Given the description of an element on the screen output the (x, y) to click on. 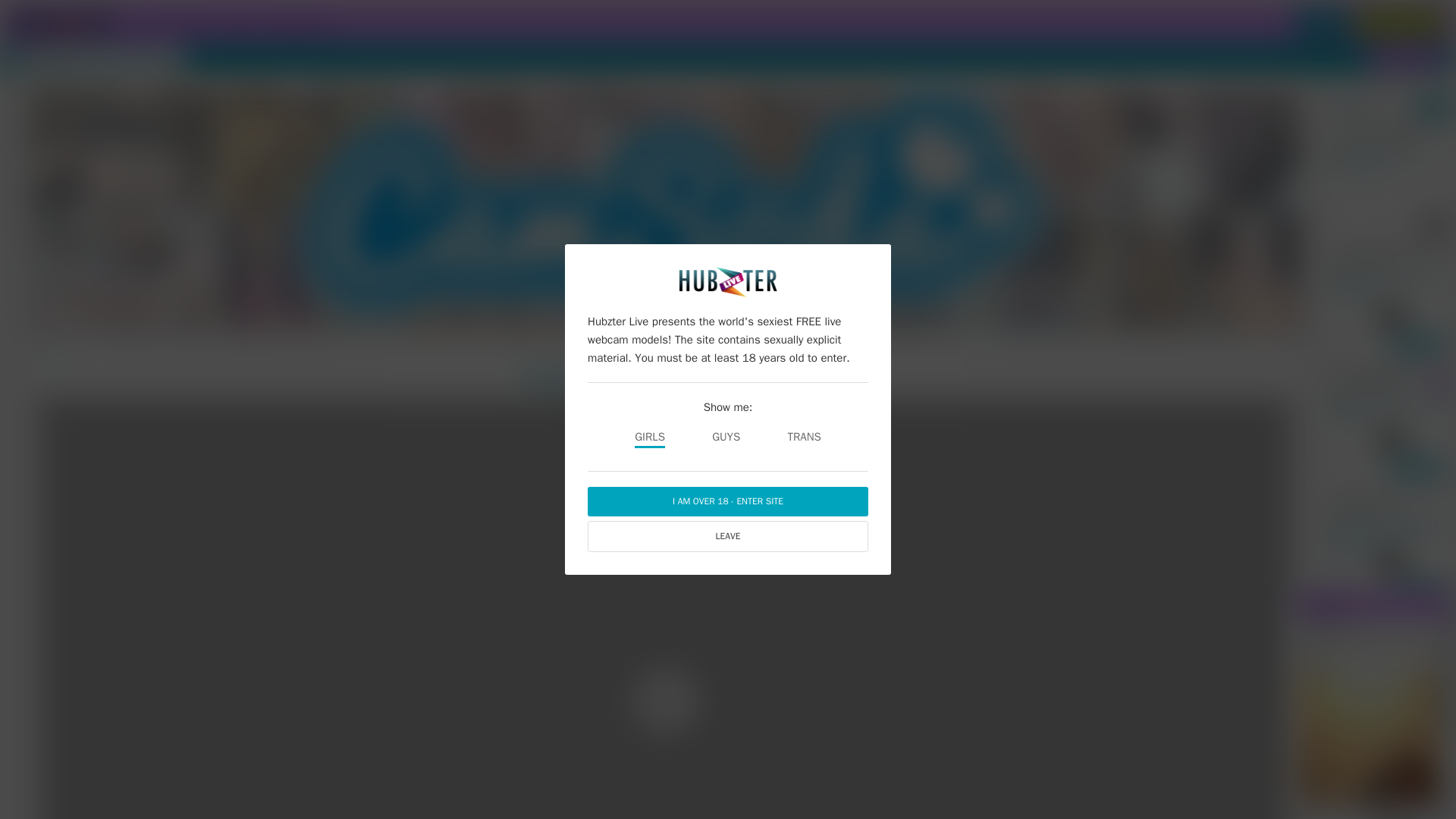
videos (240, 21)
Libbyloveheart (592, 376)
private shows (182, 21)
JOIN NOW FREE (1399, 22)
SIGN IN (1322, 22)
back (52, 356)
tag (132, 21)
View all (1433, 107)
model media (296, 21)
MODEL SIGNUP (1406, 58)
